Given the description of an element on the screen output the (x, y) to click on. 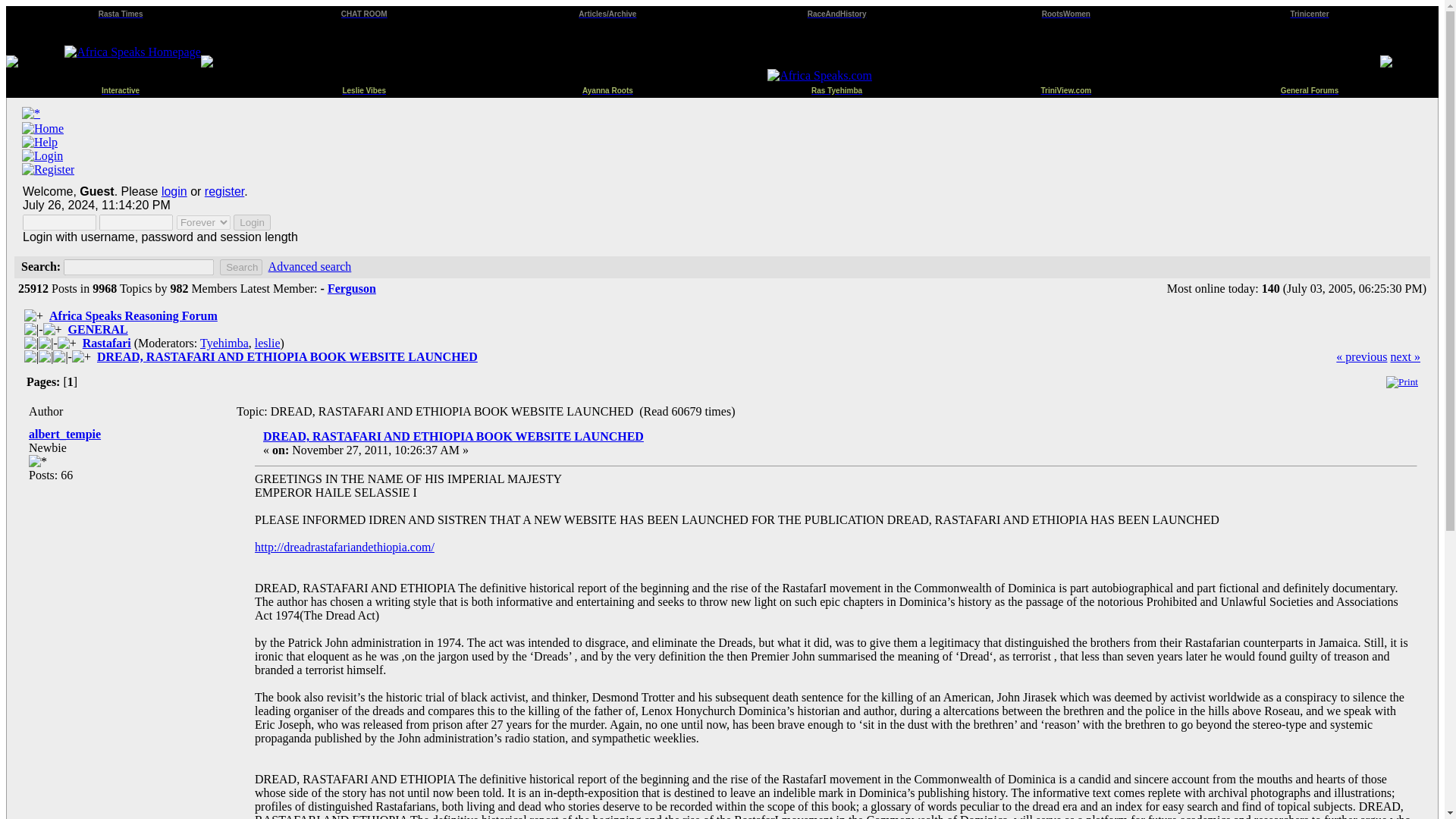
Ras Tyehimba (835, 88)
Advanced search (309, 266)
RaceAndHistory (837, 11)
Leslie Vibes (363, 88)
Trinicenter (1308, 11)
Login (251, 222)
Tyehimba (224, 342)
TriniView.com (1065, 88)
Login (251, 222)
Board Moderator (267, 342)
Rastafari (106, 342)
register (224, 191)
Search (240, 267)
DREAD, RASTAFARI AND ETHIOPIA BOOK WEBSITE LAUNCHED (453, 436)
leslie (267, 342)
